Given the description of an element on the screen output the (x, y) to click on. 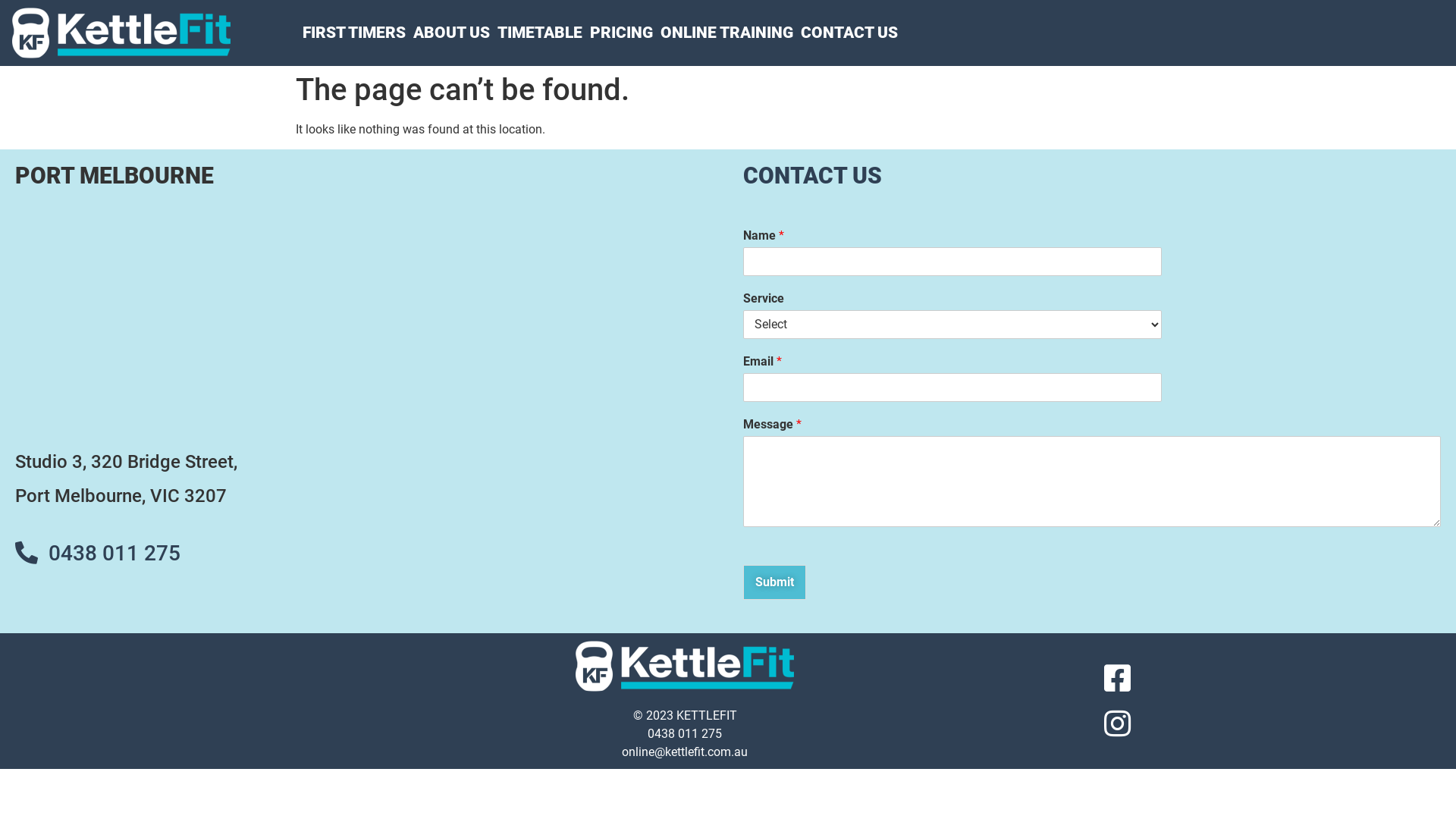
Submit Element type: text (774, 581)
ABOUT US Element type: text (451, 32)
ONLINE TRAINING Element type: text (726, 32)
CONTACT US Element type: text (849, 32)
PRICING Element type: text (621, 32)
0438 011 275 Element type: text (114, 552)
0438 011 275 Element type: text (684, 733)
online@kettlefit.com.au Element type: text (684, 751)
Studio 3, 320 Bridge Street Port Melbourne, VIC 3207 Element type: hover (363, 315)
FIRST TIMERS Element type: text (353, 32)
TIMETABLE Element type: text (539, 32)
